Given the description of an element on the screen output the (x, y) to click on. 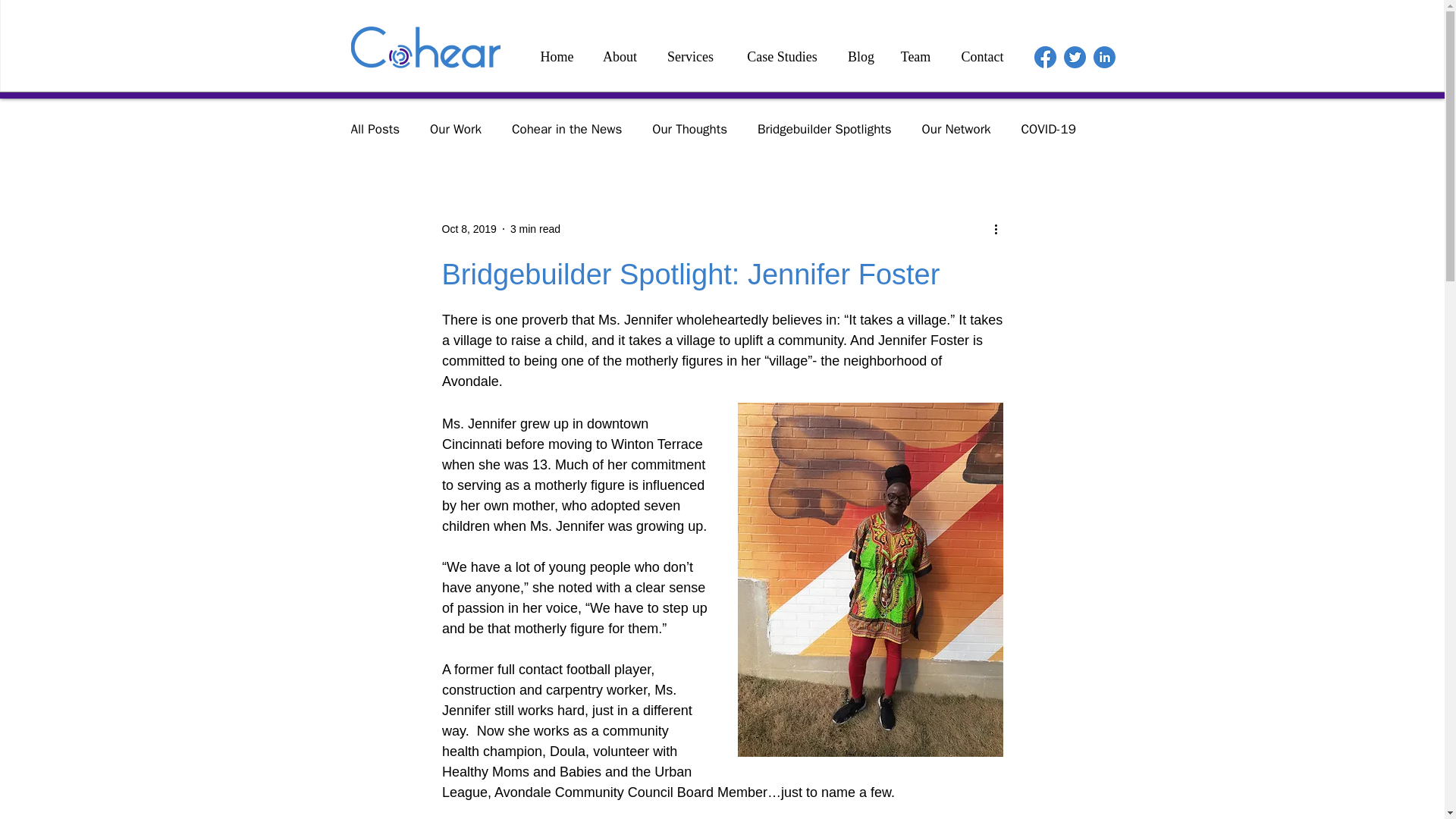
Our Thoughts (689, 128)
Our Network (956, 128)
All Posts (374, 128)
About (620, 56)
Contact (982, 56)
Cohear in the News (566, 128)
COVID-19 (1048, 128)
Our Work (455, 128)
Team (915, 56)
Case Studies (782, 56)
Services (690, 56)
3 min read (535, 228)
Home (556, 56)
Oct 8, 2019 (468, 228)
Bridgebuilder Spotlights (824, 128)
